Given the description of an element on the screen output the (x, y) to click on. 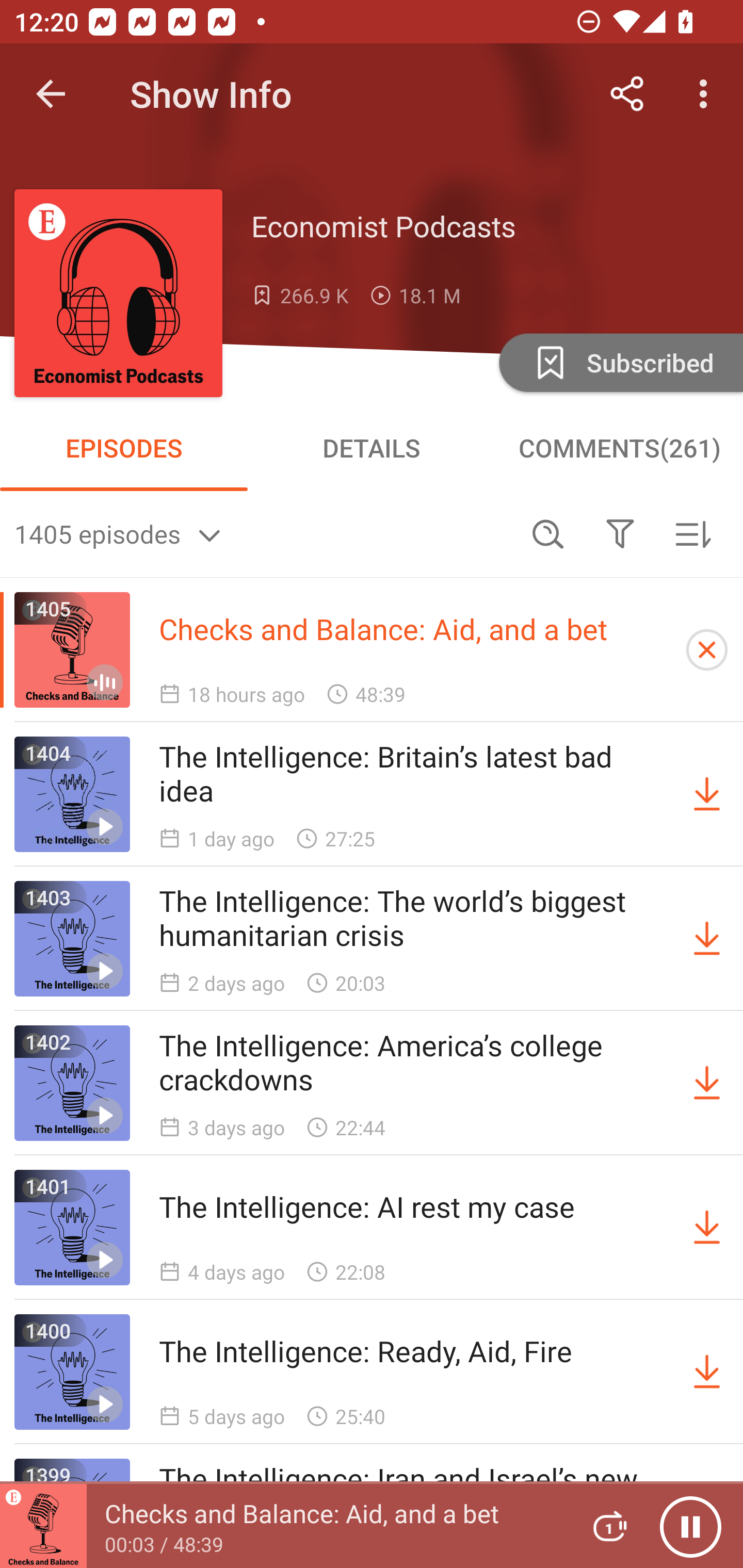
Navigate up (50, 93)
Share (626, 93)
More options (706, 93)
Unsubscribe Subscribed (619, 361)
EPISODES (123, 447)
DETAILS (371, 447)
COMMENTS(261) (619, 447)
1405 episodes  (262, 533)
 Search (547, 533)
 (619, 533)
 Sorted by newest first (692, 533)
Cancel Downloading (706, 649)
Download (706, 793)
Download (706, 939)
Download (706, 1083)
Download (706, 1227)
Download (706, 1371)
Checks and Balance: Aid, and a bet 00:03 / 48:39 (283, 1525)
Pause (690, 1526)
